Given the description of an element on the screen output the (x, y) to click on. 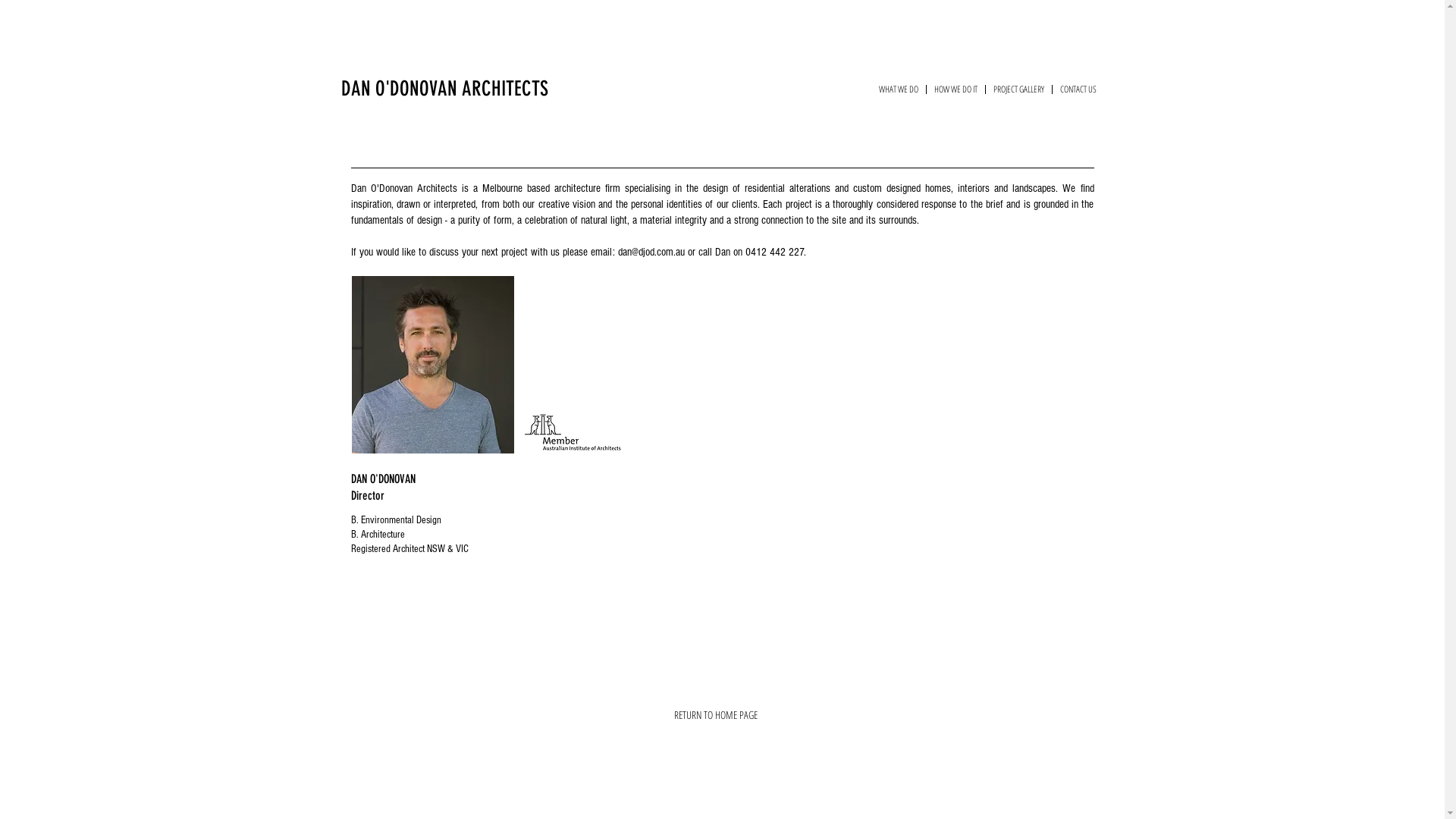
PROJECT GALLERY Element type: text (1018, 88)
CONTACT US Element type: text (1078, 88)
dan@djod.com.au Element type: text (650, 251)
WHAT WE DO Element type: text (897, 88)
RETURN TO HOME PAGE Element type: text (714, 714)
HOW WE DO IT Element type: text (955, 88)
DAN O'DONOVAN ARCHITECTS Element type: text (444, 89)
